Given the description of an element on the screen output the (x, y) to click on. 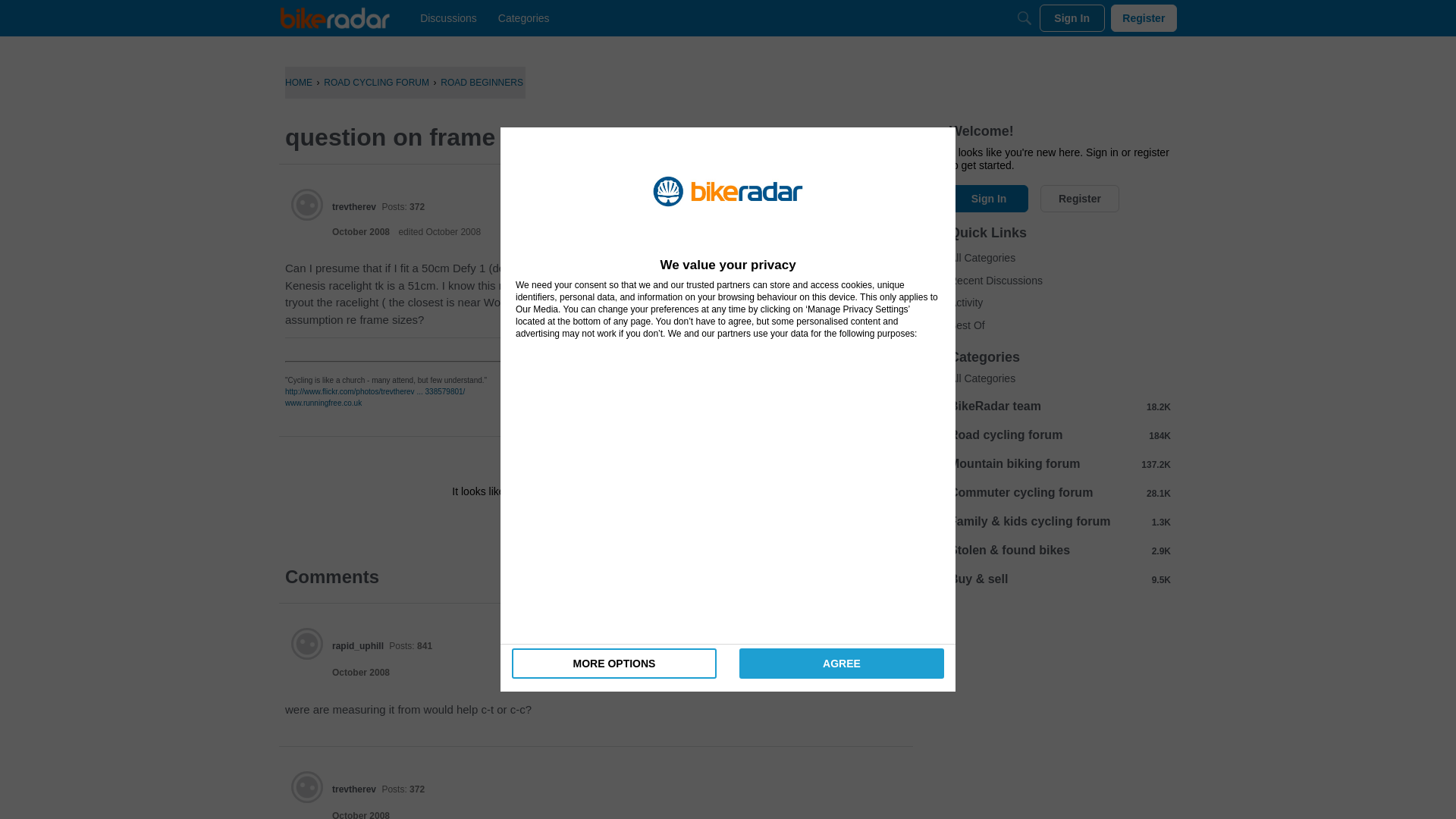
October 2008 (360, 231)
October 2008 (360, 814)
Register (638, 524)
ROAD CYCLING FORUM (376, 81)
October 19, 2008 7:49AM (360, 231)
HOME (299, 81)
October 2008 (360, 672)
Discussions (448, 17)
Categories (524, 17)
ROAD BEGINNERS (481, 81)
